Given the description of an element on the screen output the (x, y) to click on. 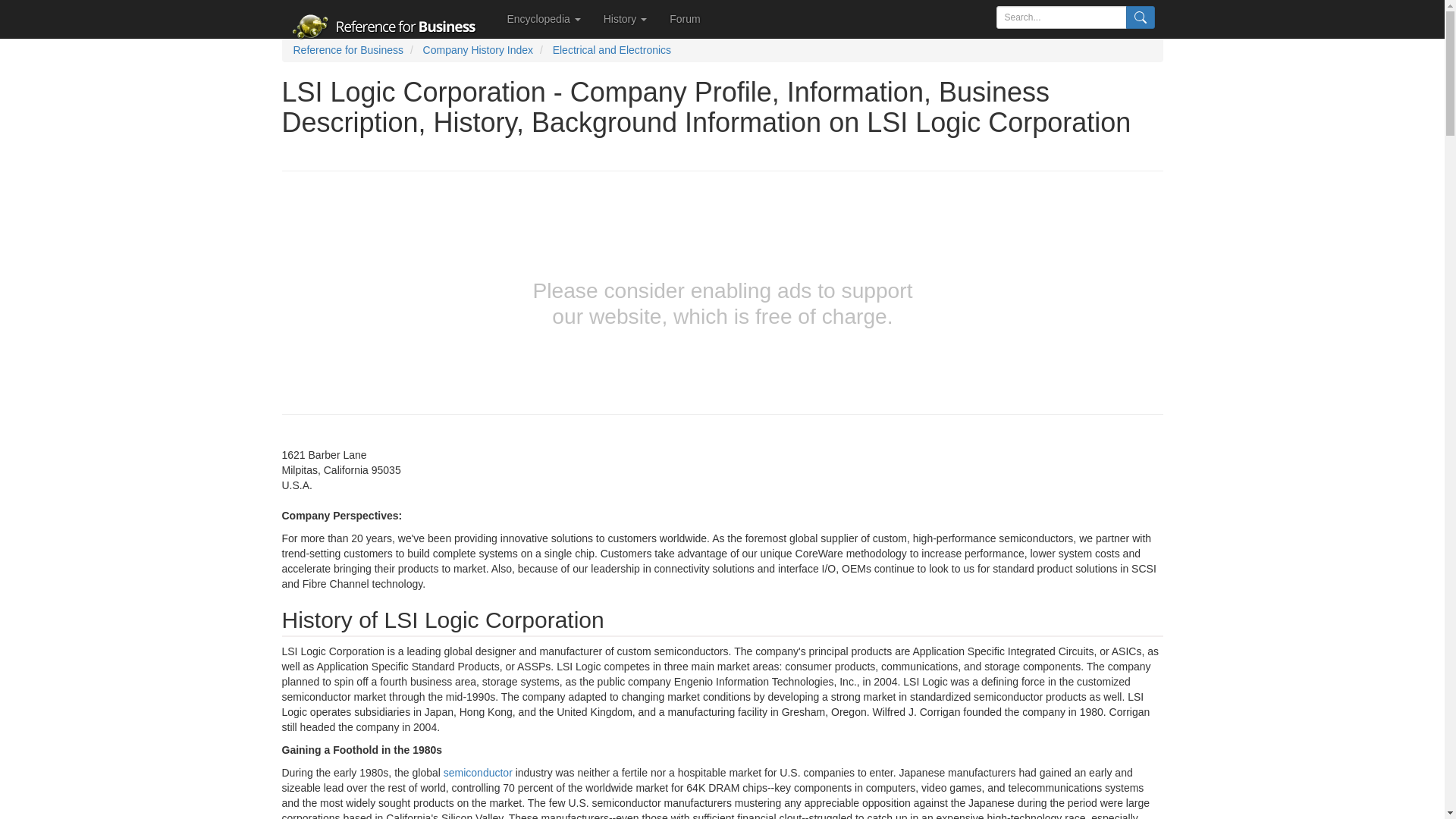
Forum (684, 18)
semiconductor (478, 772)
Advertisement (138, 306)
Reference for Business (347, 50)
View 'semiconductor' definition from Wikipedia (478, 772)
Company History Index (478, 50)
History (625, 18)
Encyclopedia (544, 18)
Electrical and Electronics (612, 50)
